Given the description of an element on the screen output the (x, y) to click on. 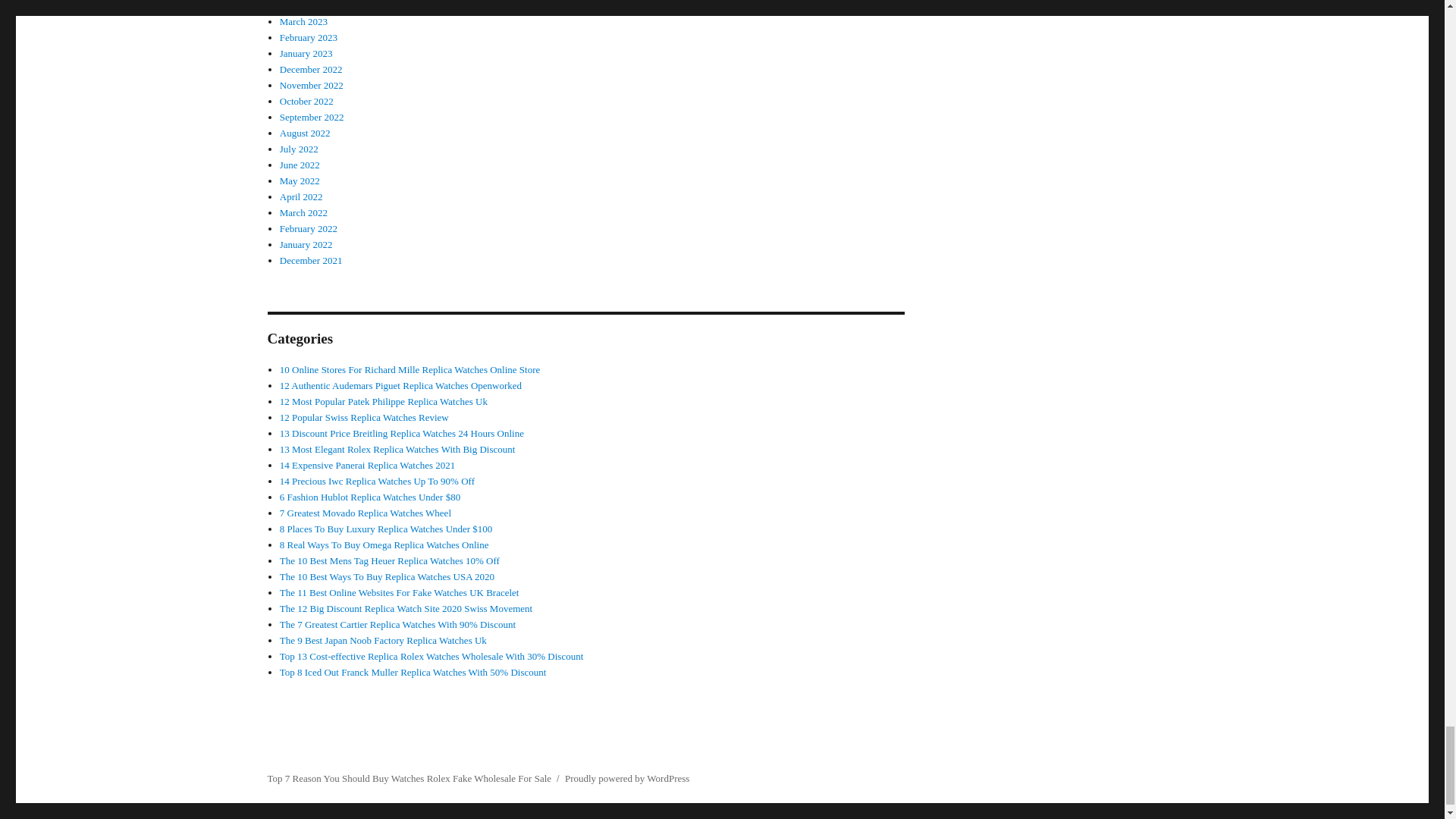
April 2023 (301, 5)
November 2022 (311, 84)
February 2023 (308, 37)
January 2023 (306, 52)
March 2023 (303, 21)
December 2022 (310, 69)
